Given the description of an element on the screen output the (x, y) to click on. 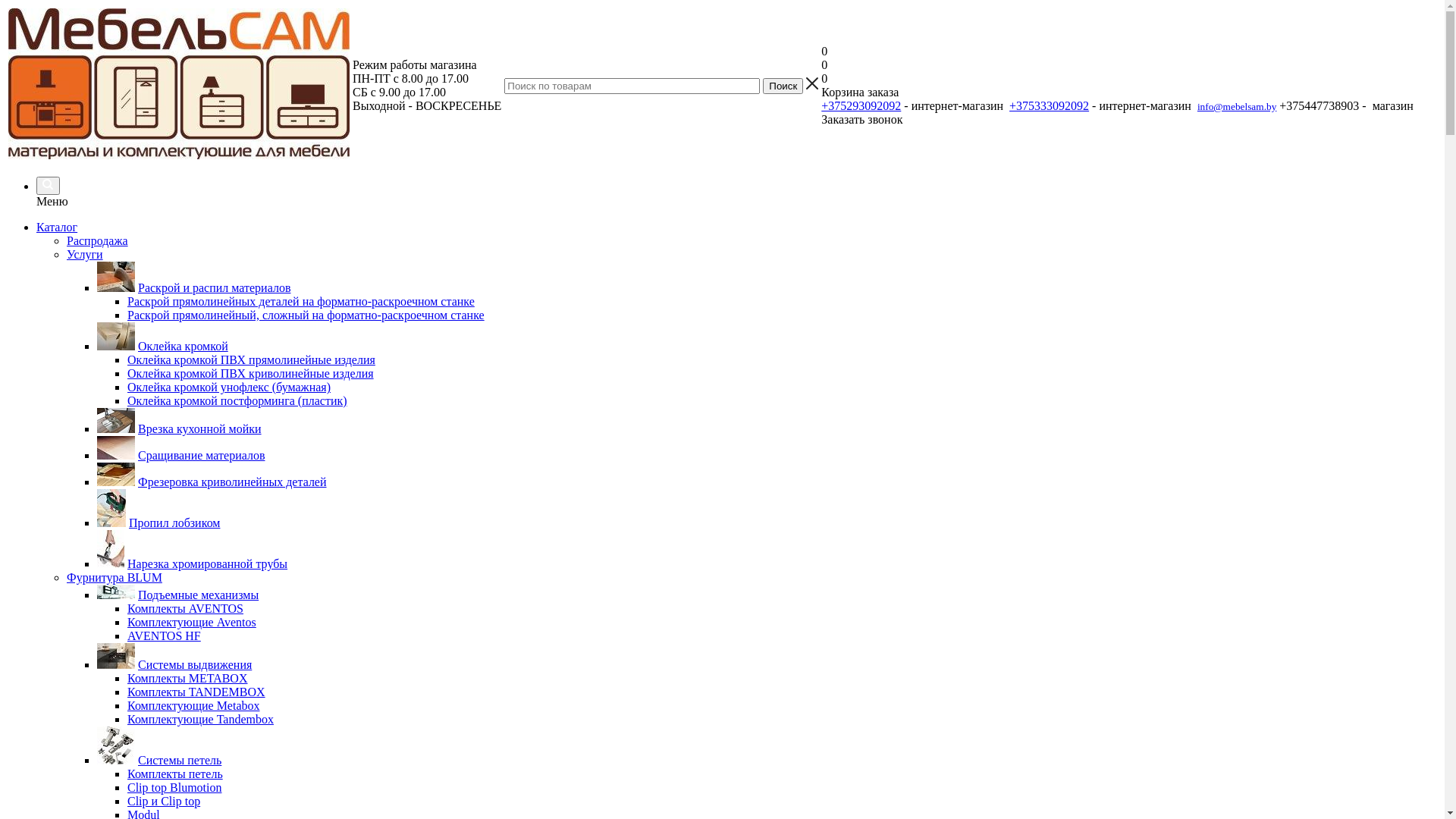
AVENTOS HF Element type: text (163, 635)
+375293092092 Element type: text (860, 104)
+375333092092 Element type: text (1048, 104)
Clip top Blumotion Element type: text (174, 787)
info@mebelsam.by Element type: text (1236, 104)
